Given the description of an element on the screen output the (x, y) to click on. 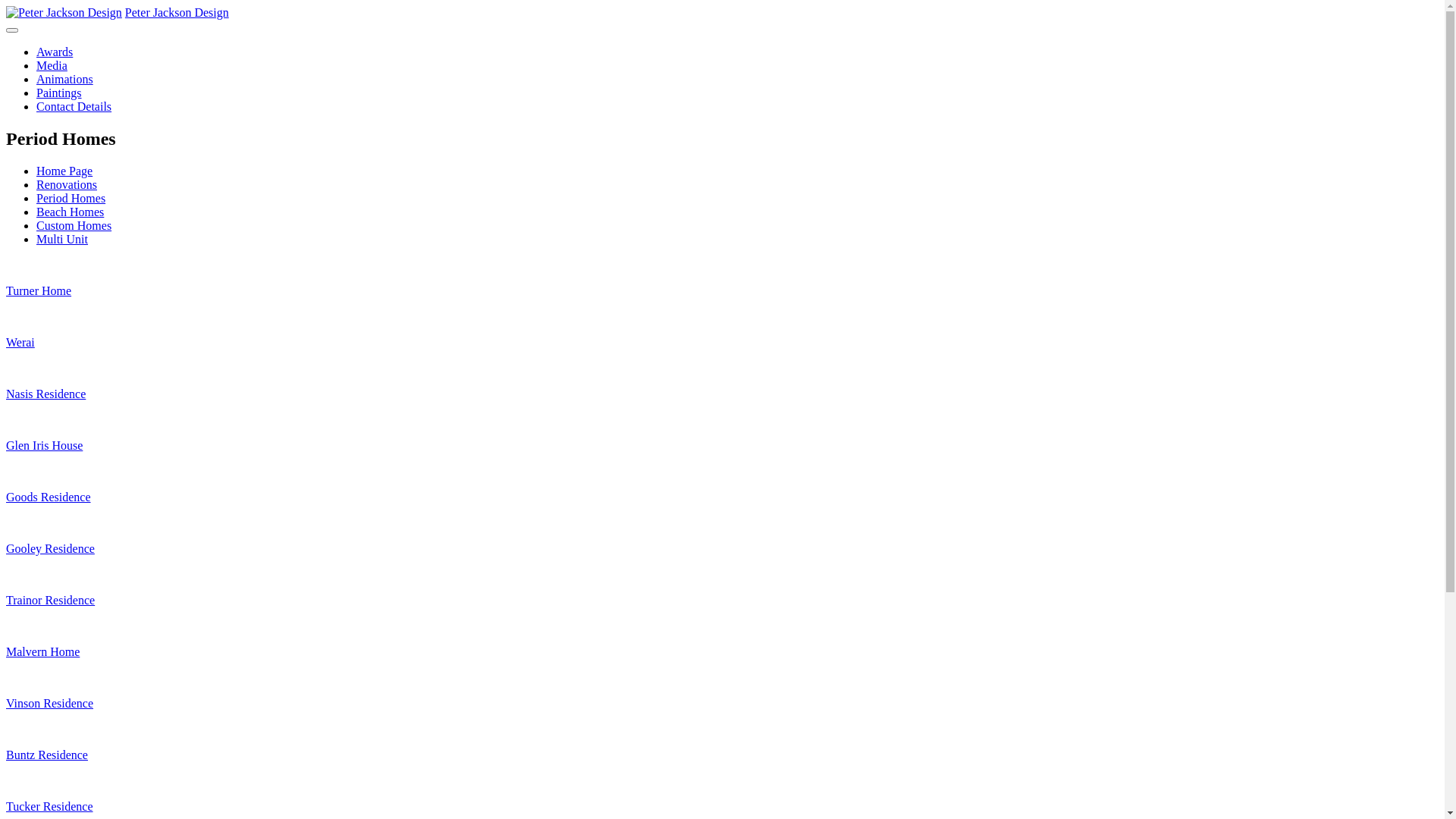
Goods Residence Element type: text (722, 510)
Buntz Residence Element type: text (722, 767)
Gooley Residence Element type: text (722, 561)
Multi Unit Element type: text (61, 238)
Malvern Home Element type: text (722, 664)
Home Page Element type: text (64, 170)
Period Homes Element type: text (70, 197)
Animations Element type: text (64, 78)
Turner Home Element type: text (722, 303)
Peter Jackson Design Element type: text (177, 12)
Contact Details Element type: text (73, 106)
Glen Iris House Element type: text (722, 458)
Peter Jackson Design Element type: hover (64, 12)
Custom Homes Element type: text (73, 225)
Paintings Element type: text (58, 92)
Trainor Residence Element type: text (722, 613)
Beach Homes Element type: text (69, 211)
Werai Element type: text (722, 355)
Nasis Residence Element type: text (722, 406)
Media Element type: text (51, 65)
Vinson Residence Element type: text (722, 716)
Awards Element type: text (54, 51)
Renovations Element type: text (66, 184)
